Given the description of an element on the screen output the (x, y) to click on. 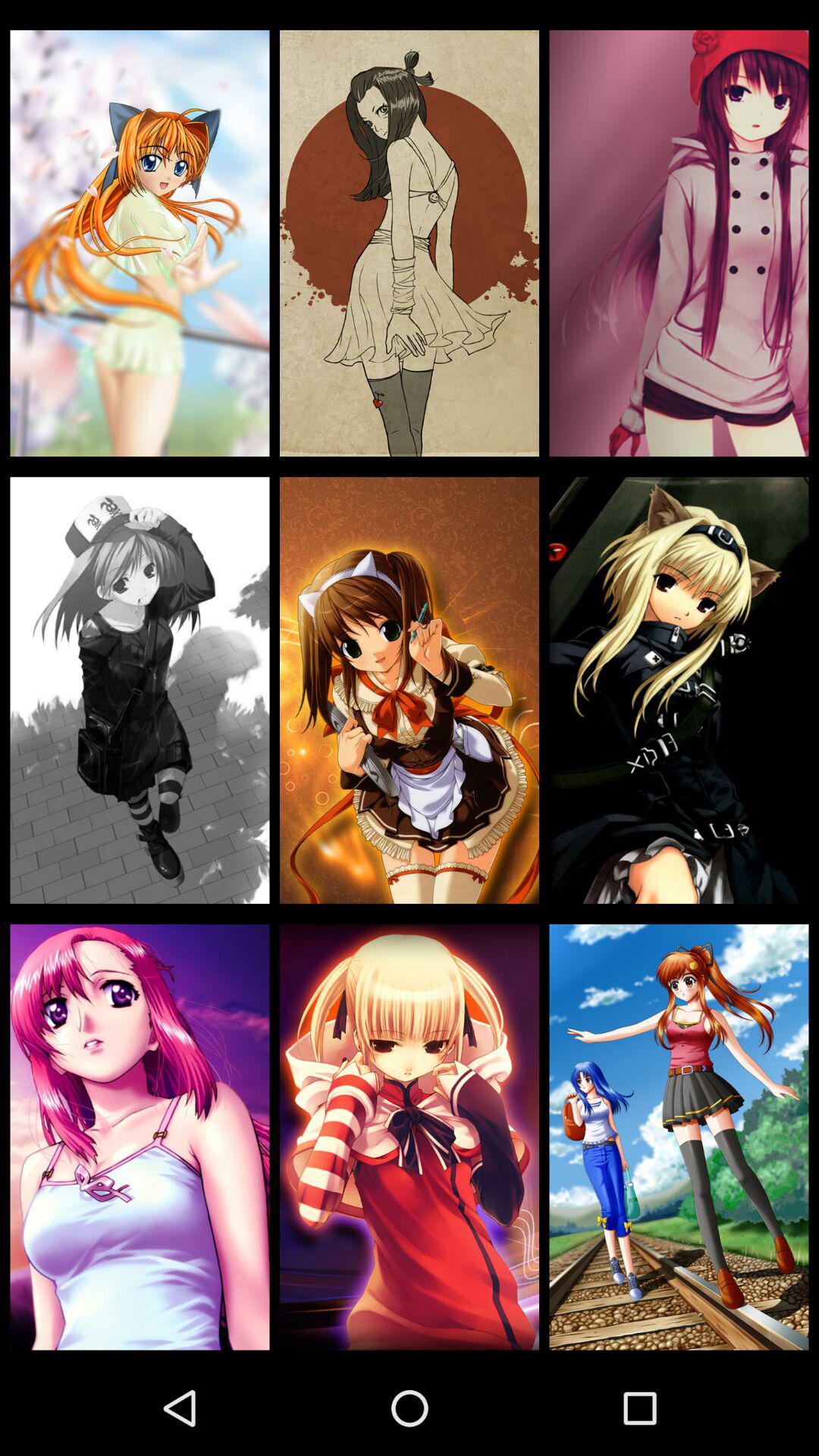
select character (139, 690)
